Given the description of an element on the screen output the (x, y) to click on. 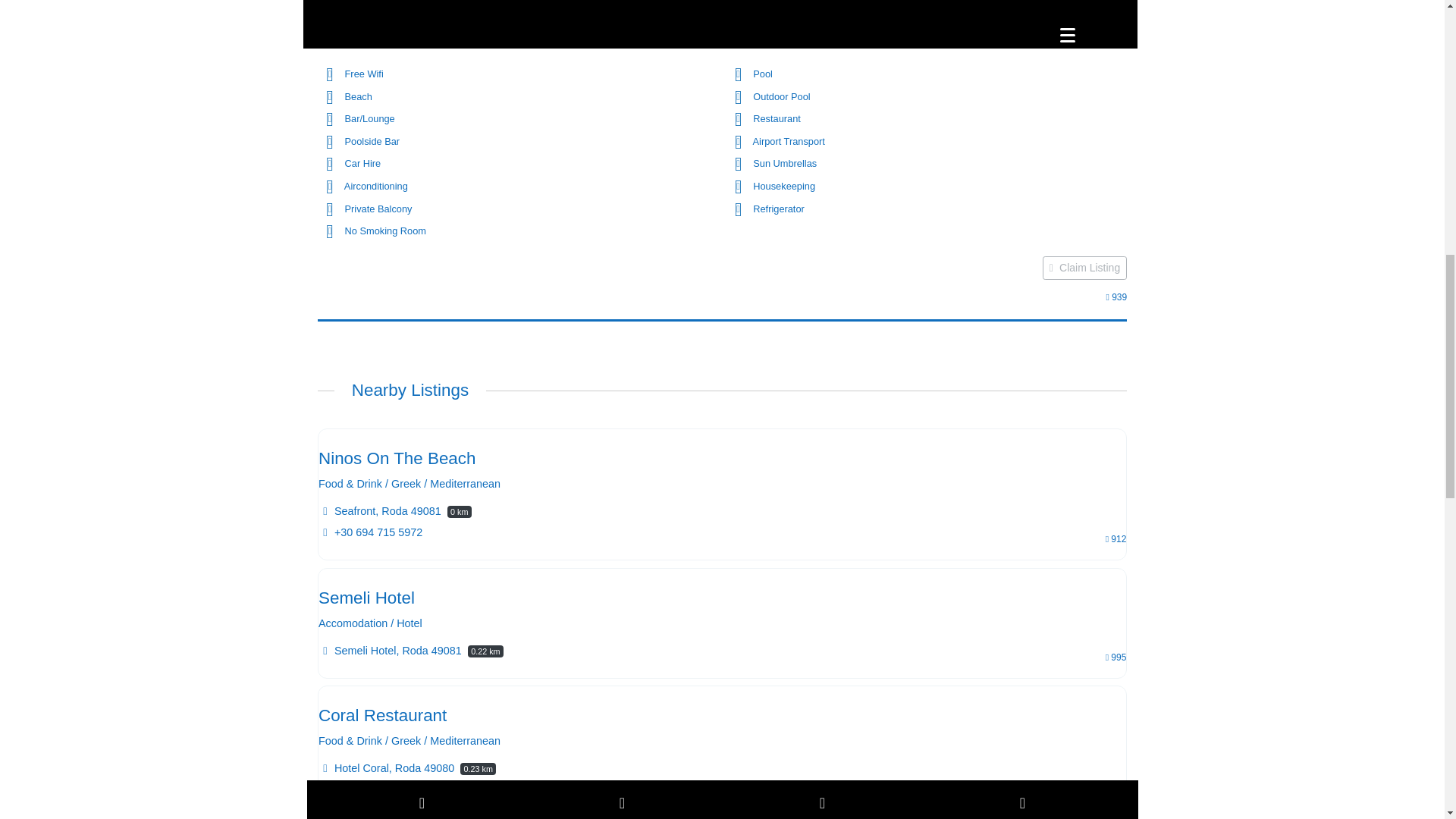
Mediterranean (464, 484)
Semeli Hotel (366, 597)
Hotel (409, 623)
Coral Restaurant (382, 714)
Semeli Hotel (366, 597)
Mediterranean (464, 484)
Ninos On The Beach (397, 457)
Mediterranean (464, 741)
Greek (405, 484)
Hotel (409, 623)
